Given the description of an element on the screen output the (x, y) to click on. 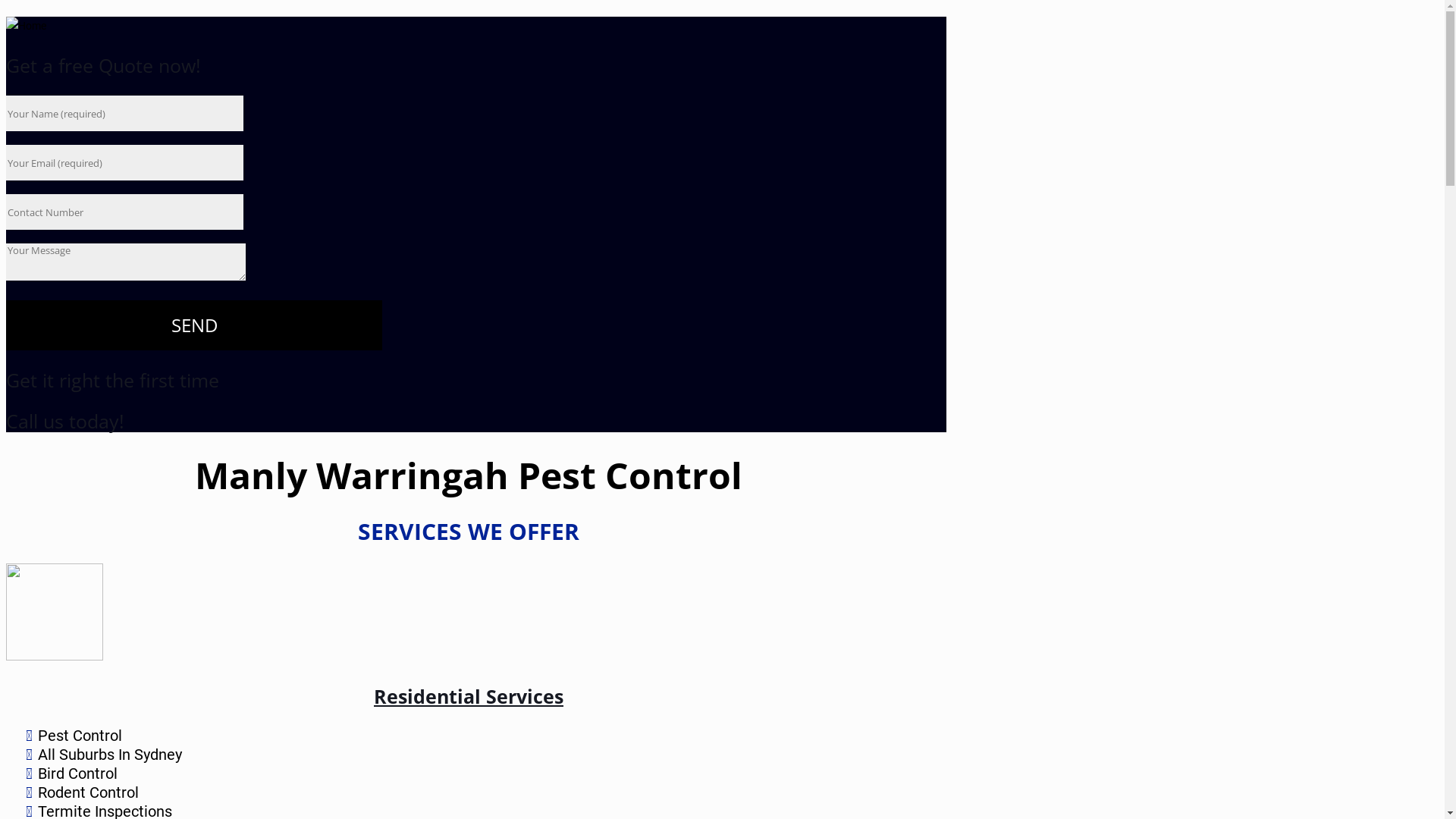
SEND Element type: text (194, 325)
Residential Services Element type: text (468, 696)
Home Element type: hover (26, 25)
